Given the description of an element on the screen output the (x, y) to click on. 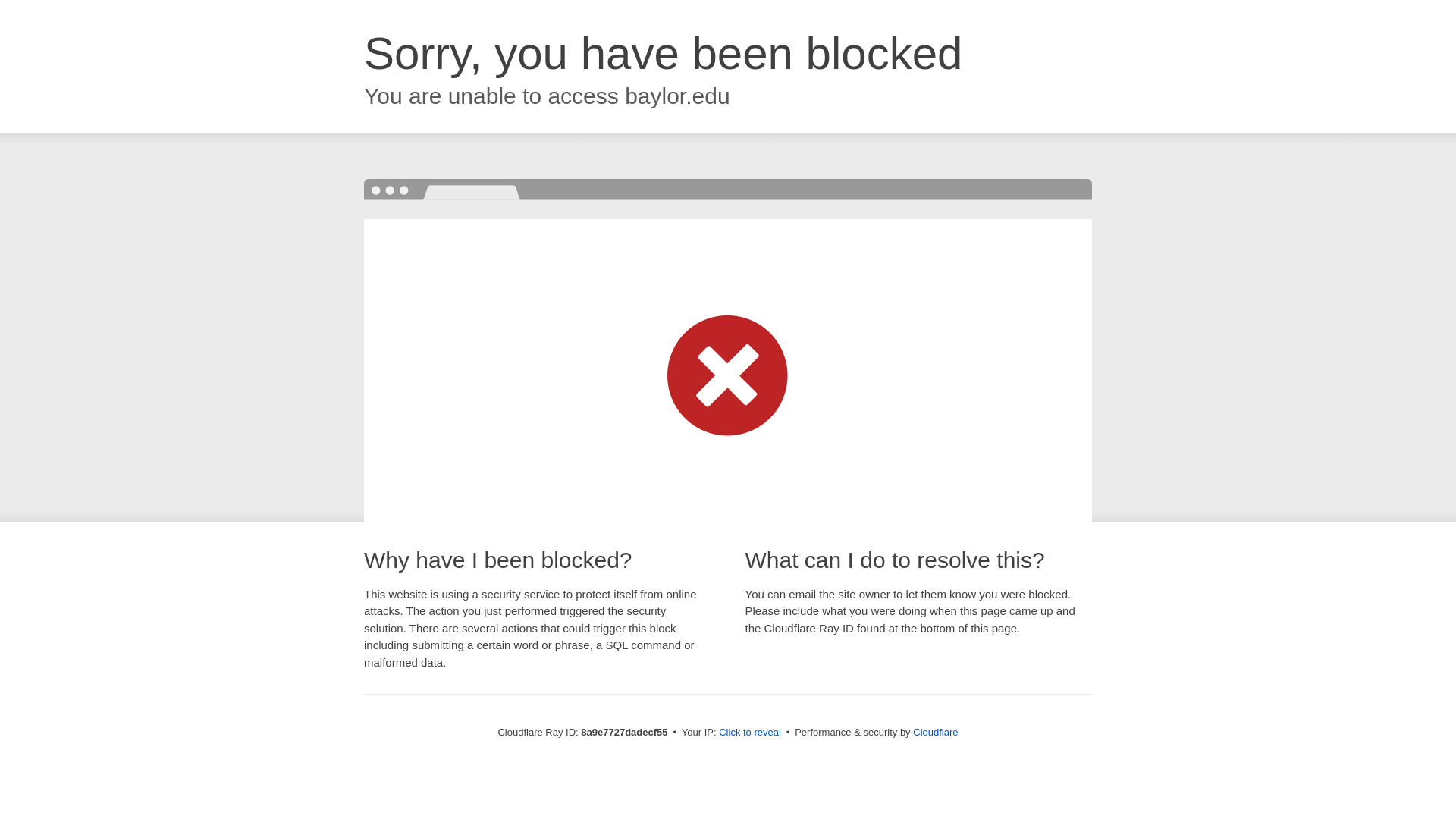
Cloudflare (935, 731)
Click to reveal (749, 732)
